Given the description of an element on the screen output the (x, y) to click on. 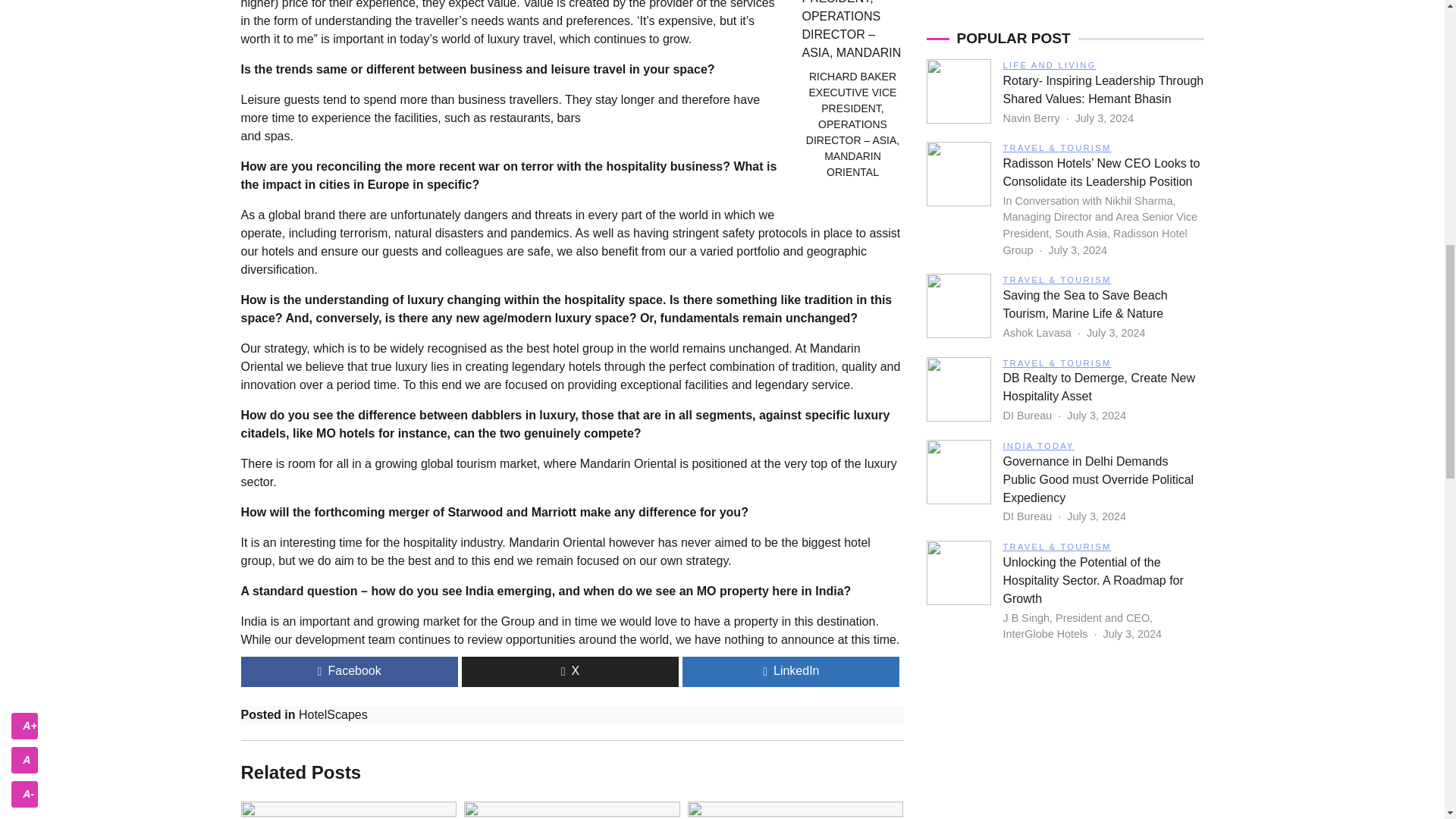
LinkedIn (790, 671)
Facebook (349, 671)
HotelScapes (333, 714)
X (569, 671)
